Given the description of an element on the screen output the (x, y) to click on. 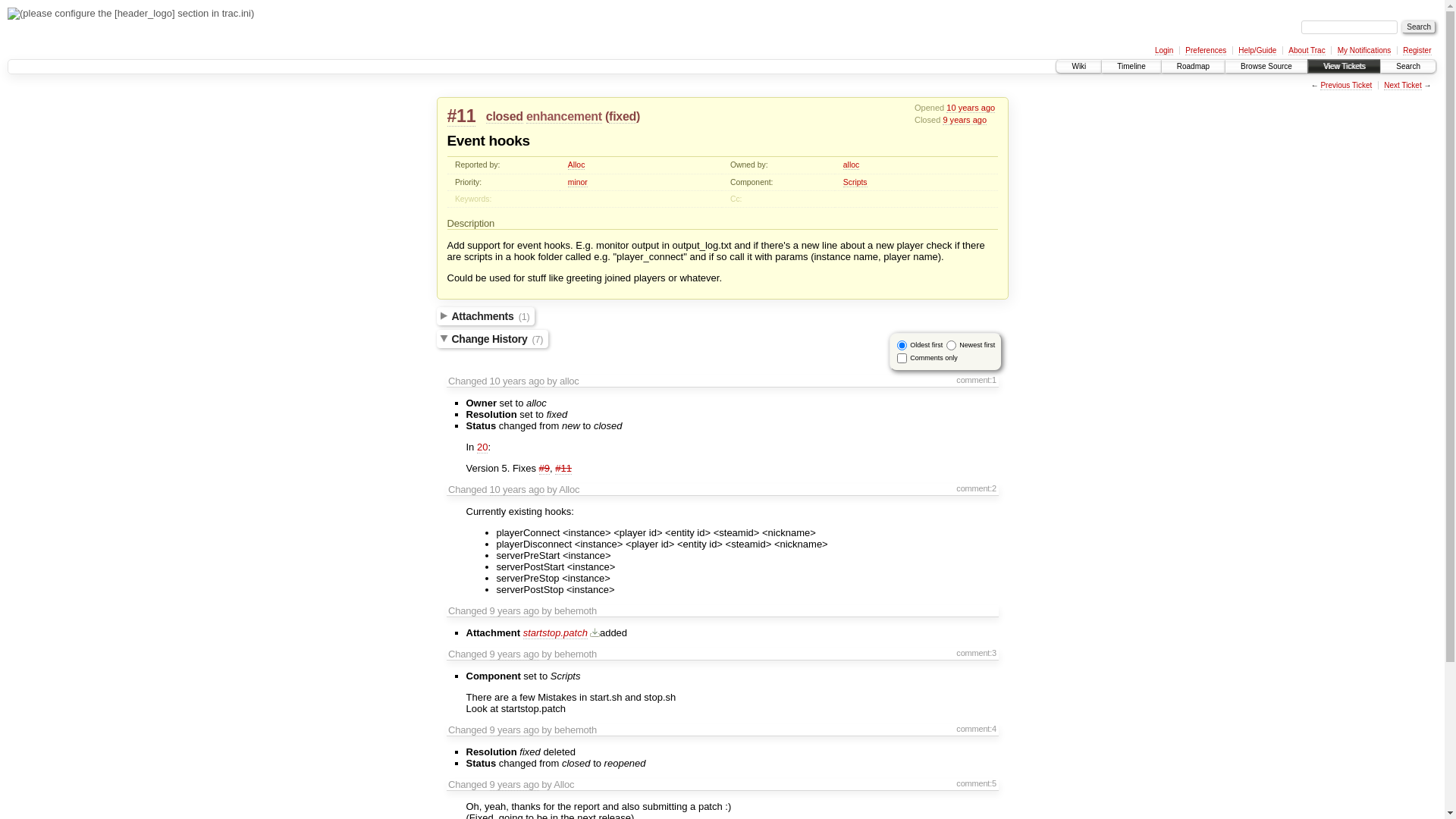
#11 Element type: text (563, 468)
Change History (7) Element type: text (492, 338)
comment:4 Element type: text (976, 728)
About Trac Element type: text (1306, 50)
Timeline Element type: text (1130, 65)
closed Element type: text (504, 116)
comment:2 Element type: text (976, 487)
Wiki Element type: text (1078, 65)
My Notifications Element type: text (1364, 50)
Help/Guide Element type: text (1257, 50)
Attachments (1) Element type: text (485, 316)
9 years ago Element type: text (514, 730)
Next Ticket Element type: text (1402, 85)
#9 Element type: text (544, 468)
9 years ago Element type: text (514, 611)
Browse Source Element type: text (1266, 65)
Download Element type: hover (593, 632)
comment:3 Element type: text (976, 652)
#11 Element type: text (461, 116)
Alloc Element type: text (576, 164)
Roadmap Element type: text (1192, 65)
Scripts Element type: text (855, 182)
enhancement Element type: text (564, 116)
startstop.patch Element type: text (555, 633)
Previous Ticket Element type: text (1345, 85)
alloc Element type: text (851, 164)
9 years ago Element type: text (514, 784)
10 years ago Element type: text (970, 107)
comment:5 Element type: text (976, 782)
9 years ago Element type: text (964, 120)
Login Element type: text (1163, 50)
Search Element type: text (1407, 65)
Preferences Element type: text (1205, 50)
fixed Element type: text (622, 116)
comment:1 Element type: text (976, 379)
minor Element type: text (577, 182)
10 years ago Element type: text (516, 381)
9 years ago Element type: text (514, 654)
10 years ago Element type: text (516, 489)
View Tickets Element type: text (1344, 65)
20 Element type: text (481, 447)
Search Element type: text (1418, 27)
Register Element type: text (1416, 50)
